Given the description of an element on the screen output the (x, y) to click on. 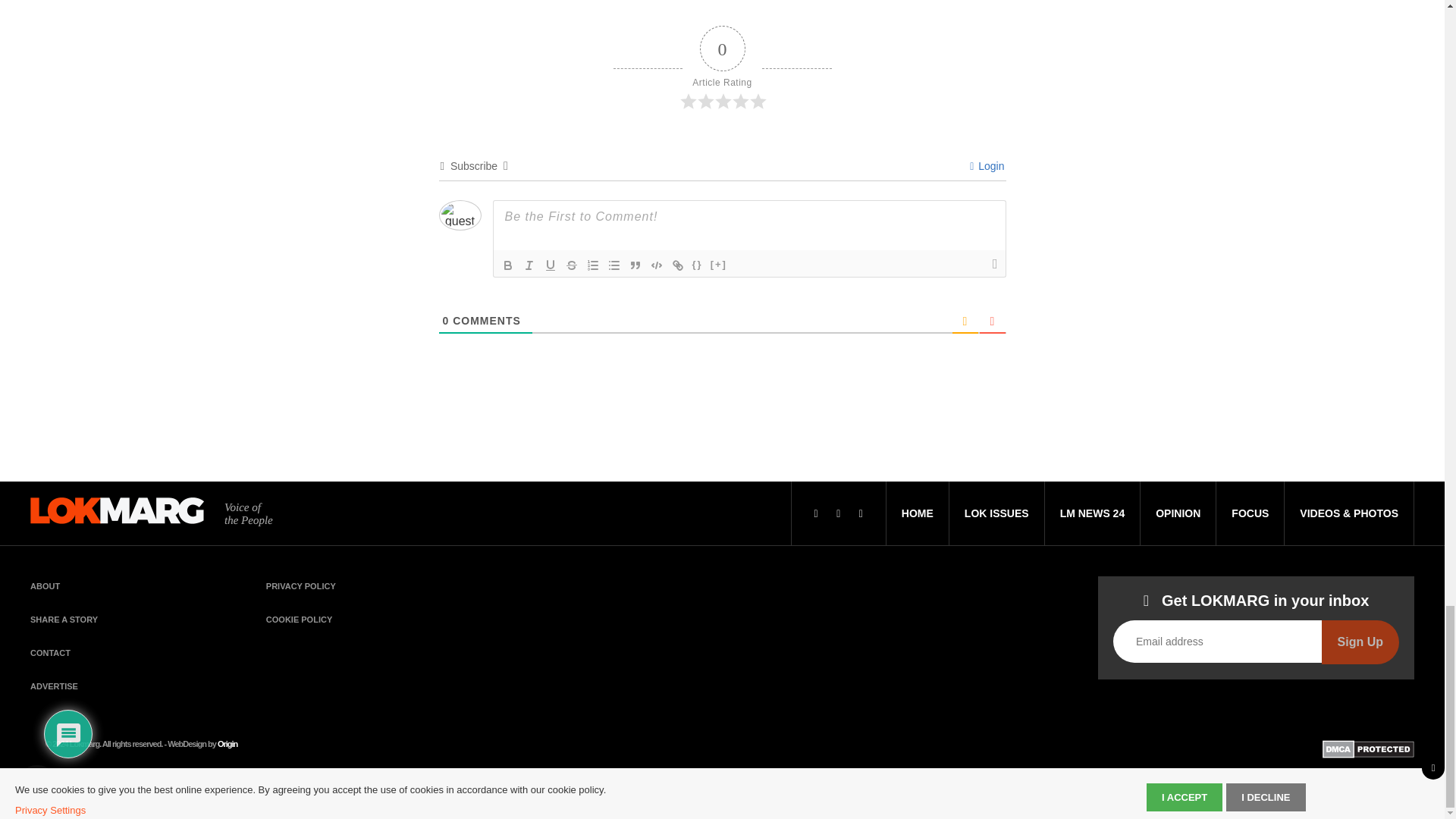
Login (986, 165)
Sign Up (1360, 641)
